Given the description of an element on the screen output the (x, y) to click on. 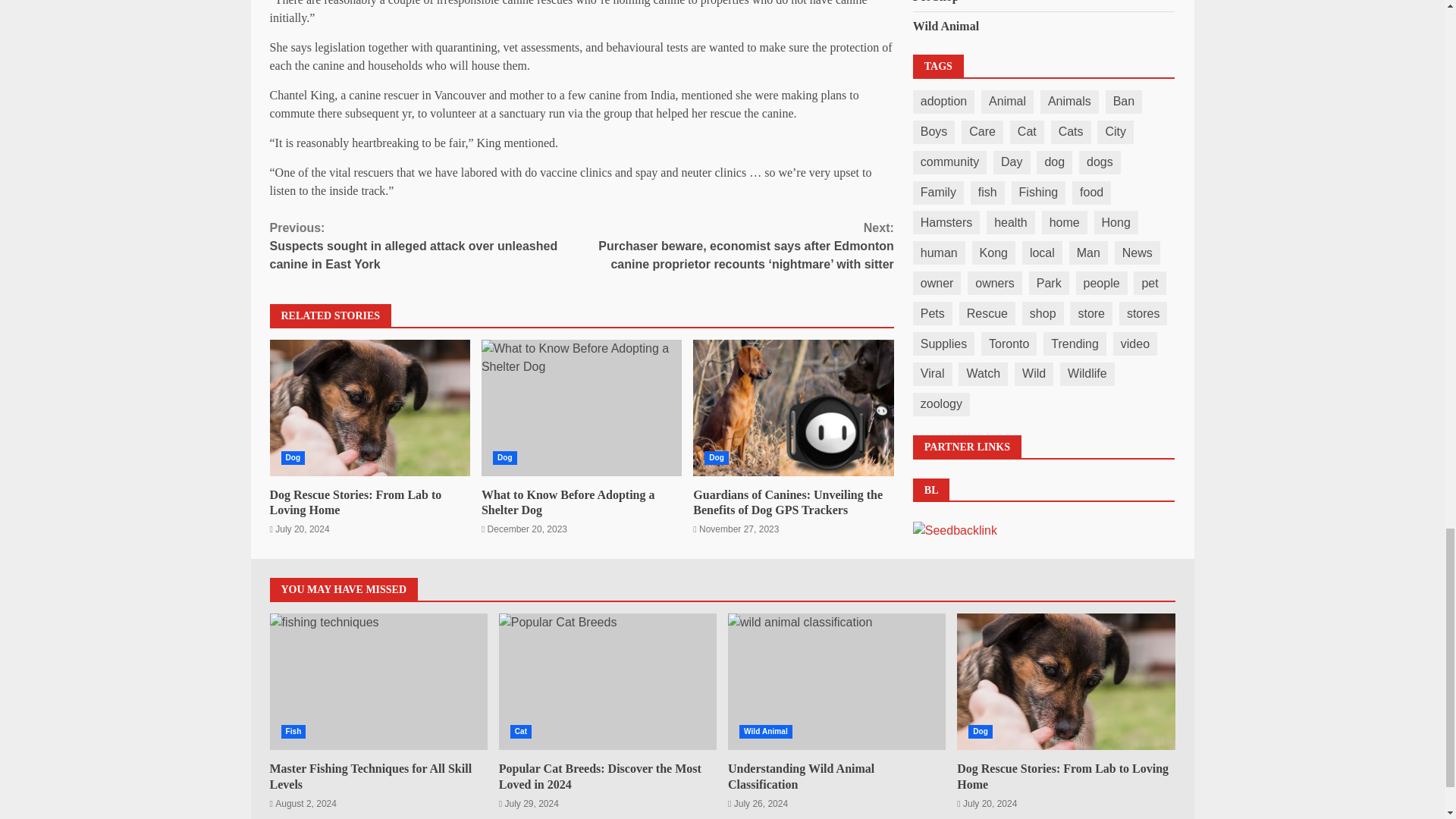
What to Know Before Adopting a Shelter Dog (581, 407)
Dog Rescue Stories: From Lab to Loving Home (369, 407)
Dog (1065, 681)
Dog (369, 407)
Dog (292, 458)
fishing techniques (378, 681)
wild animal classification (836, 681)
Dog (716, 458)
What to Know Before Adopting a Shelter Dog (568, 502)
Dog Rescue Stories: From Lab to Loving Home (355, 502)
What to Know Before Adopting a Shelter Dog (581, 407)
